Given the description of an element on the screen output the (x, y) to click on. 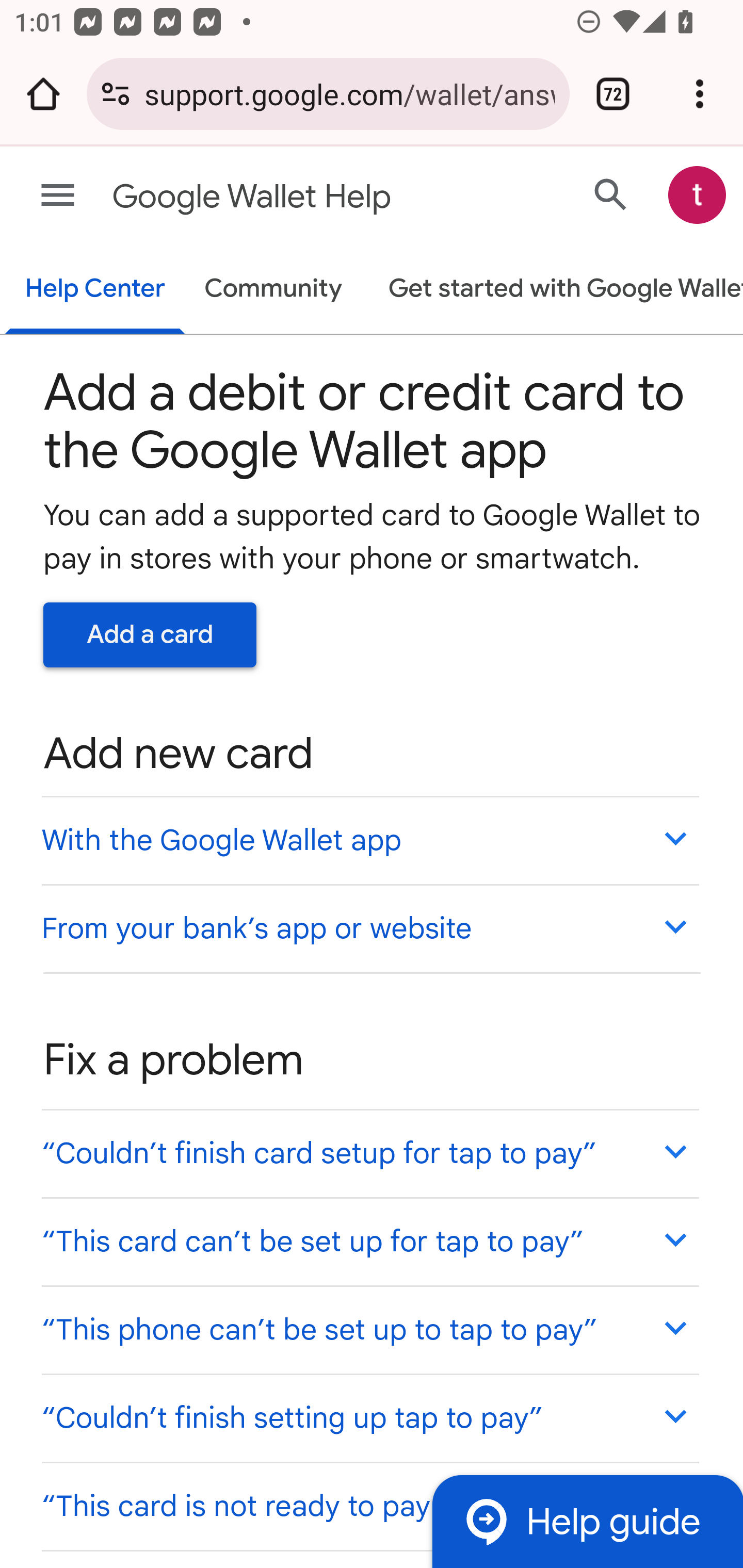
Open the home page (43, 93)
Connection is secure (115, 93)
Switch or close tabs (612, 93)
Customize and control Google Chrome (699, 93)
Main menu (58, 195)
Google Wallet Help (292, 197)
Search Help Center (611, 194)
Help Center (94, 289)
Community (273, 289)
Get started with Google Wallet (555, 289)
Add a card (150, 633)
With the Google Wallet app (369, 839)
From your bank’s app or website (369, 927)
“Couldn’t finish card setup for tap to pay” (369, 1152)
“This card can’t be set up for tap to pay” (369, 1240)
“This phone can’t be set up to tap to pay” (369, 1329)
“Couldn’t finish setting up tap to pay” (369, 1417)
“This card is not ready to pay online” (369, 1504)
Help guide (587, 1520)
